Given the description of an element on the screen output the (x, y) to click on. 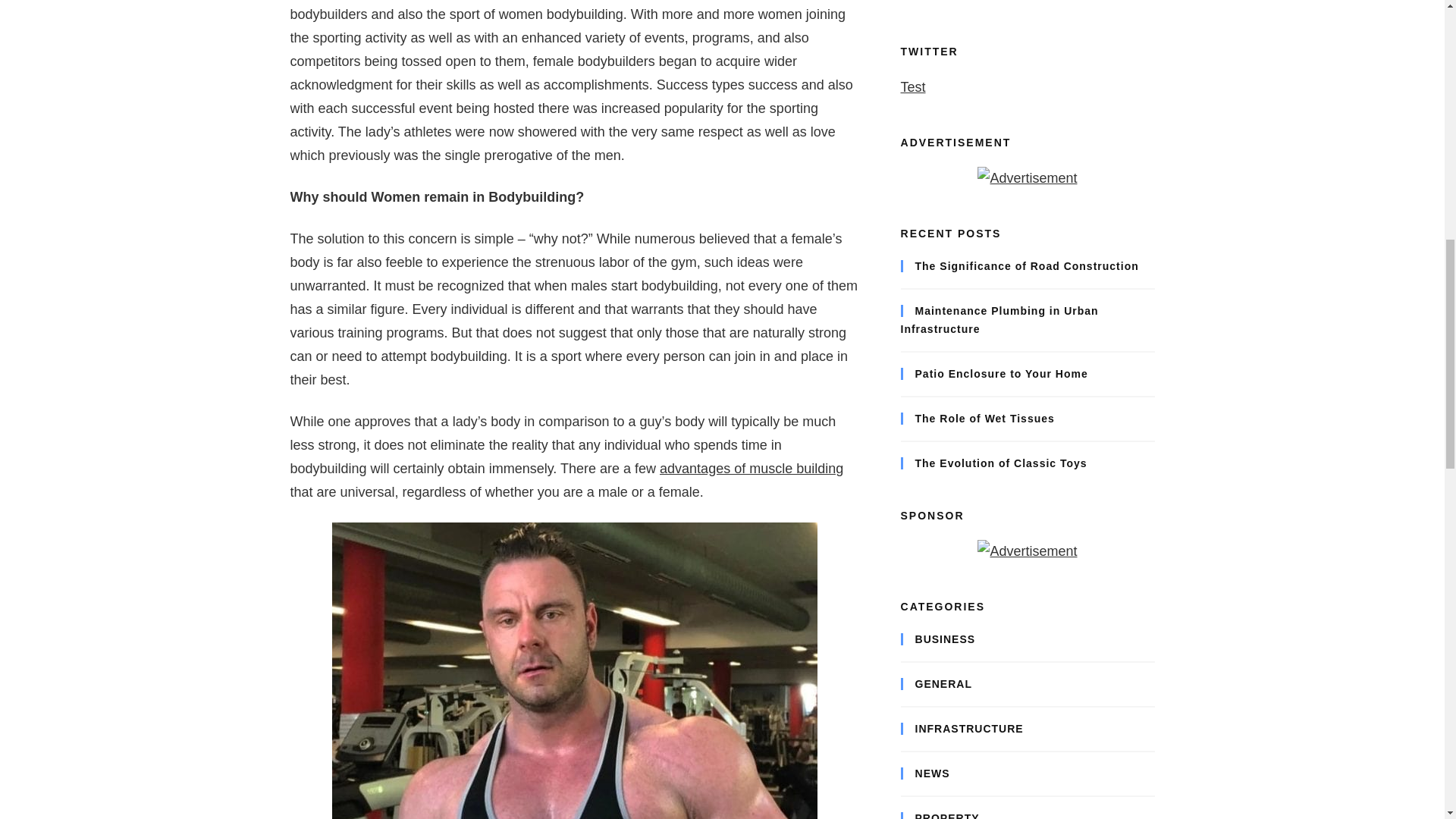
advantages of muscle building (751, 468)
